Given the description of an element on the screen output the (x, y) to click on. 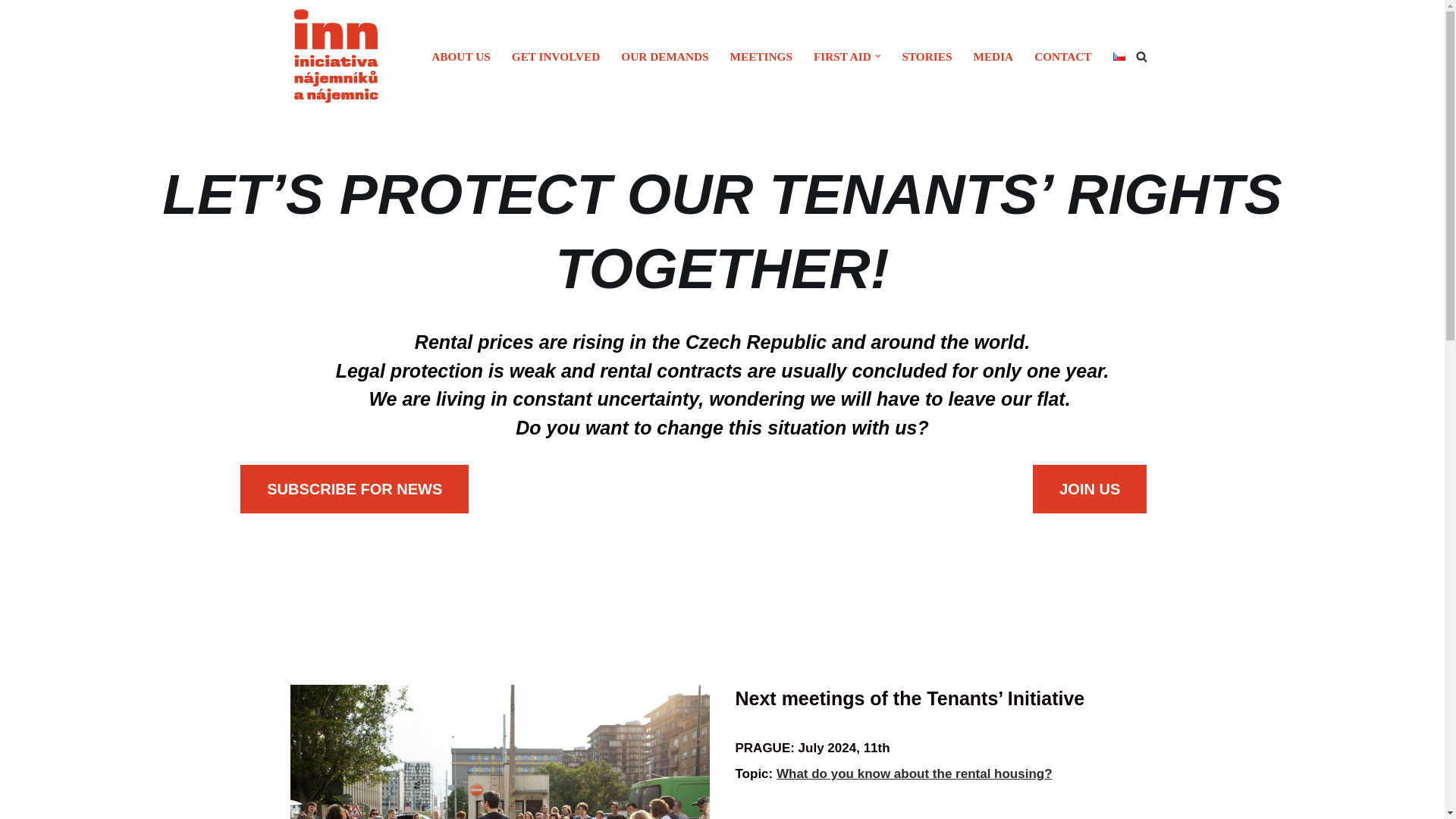
MEETINGS (760, 56)
OUR DEMANDS (664, 56)
SUBSCRIBE FOR NEWS (354, 489)
Skip to content (11, 31)
CONTACT (1061, 56)
ABOUT US (460, 56)
FIRST AID (841, 56)
STORIES (926, 56)
MEDIA (992, 56)
JOIN US (1089, 489)
GET INVOLVED (555, 56)
What do you know about the rental housing? (914, 773)
